Given the description of an element on the screen output the (x, y) to click on. 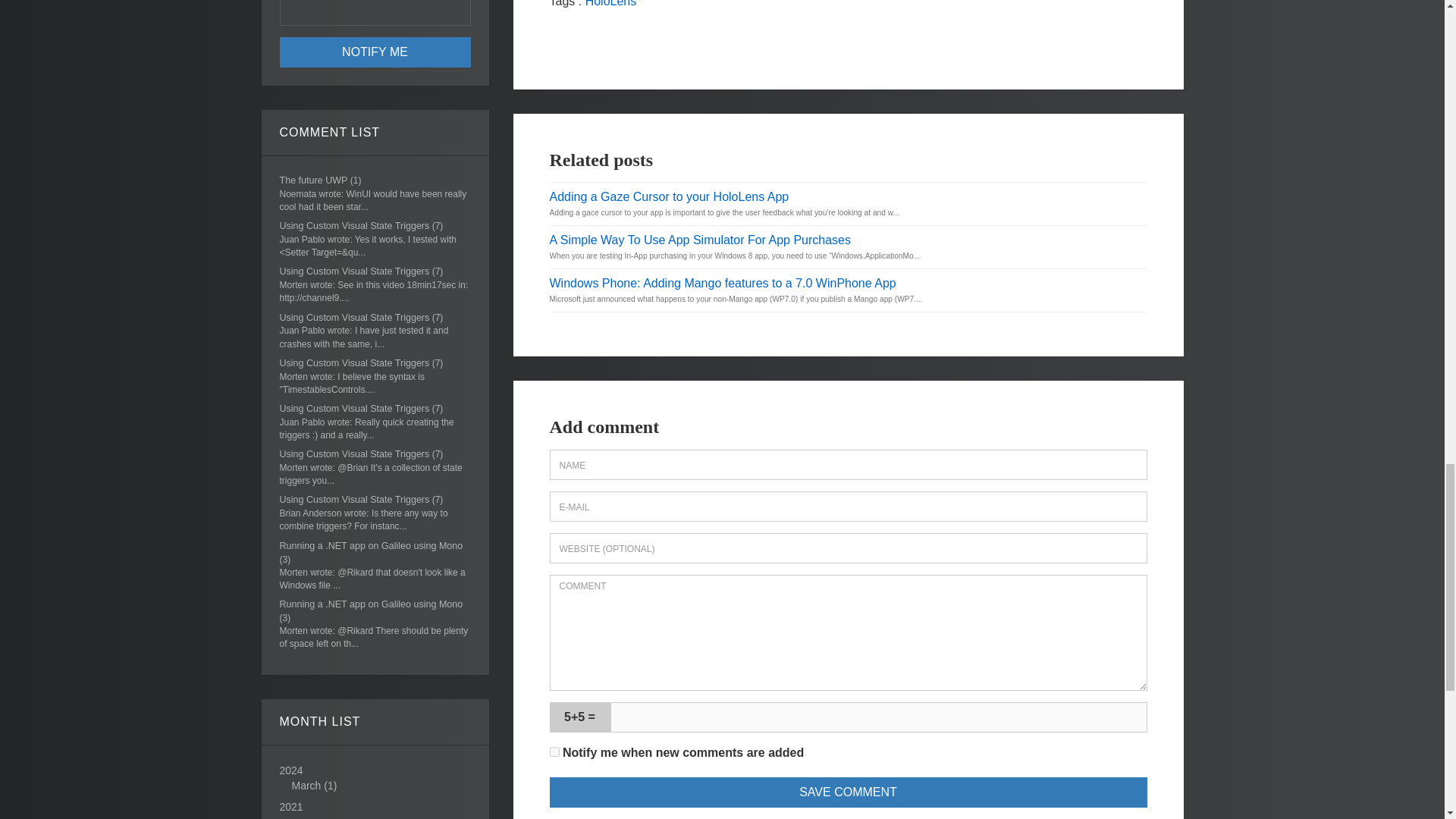
on (553, 751)
Save comment (847, 792)
Notify me (374, 51)
